Given the description of an element on the screen output the (x, y) to click on. 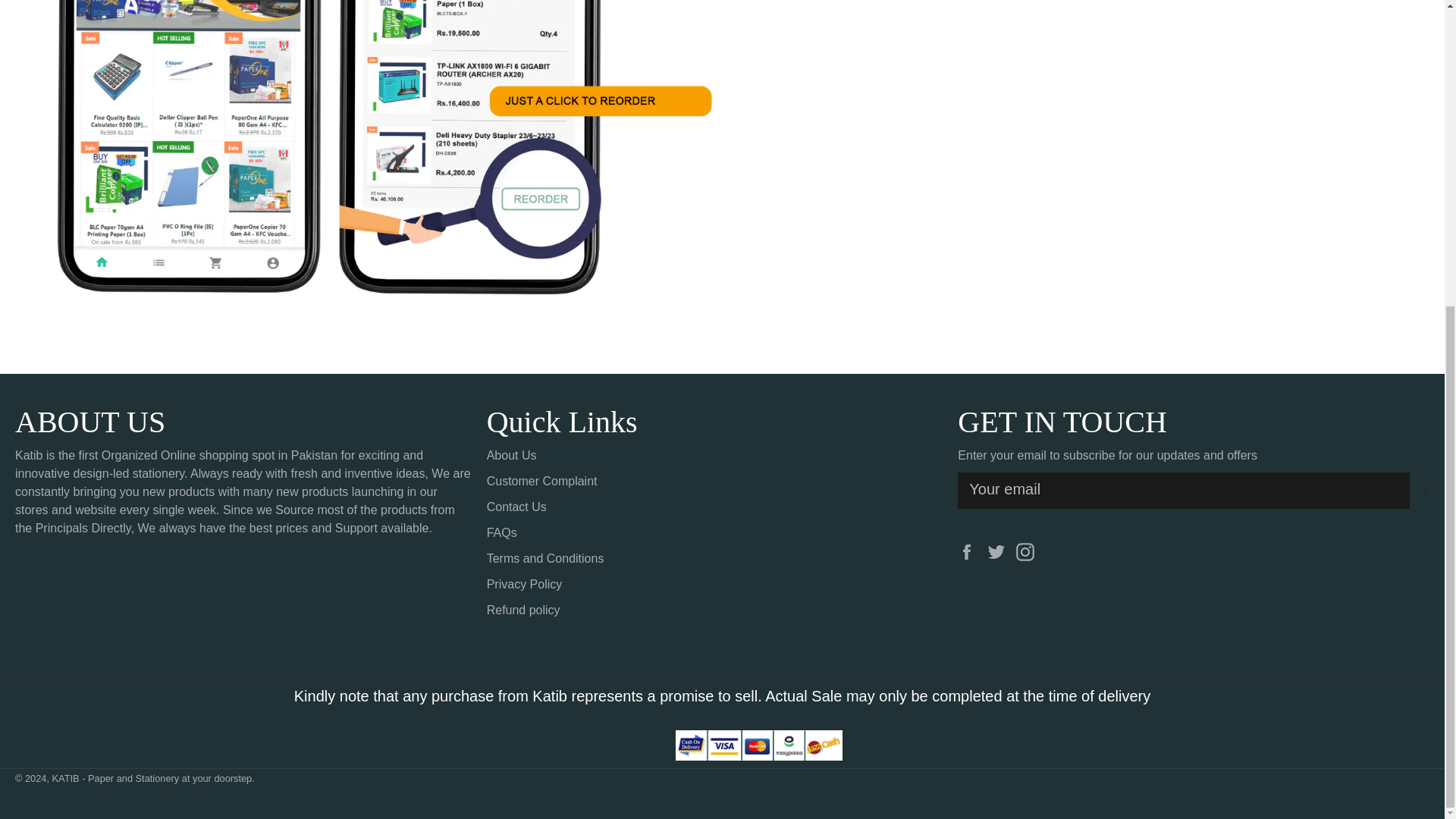
KATIB - Paper and Stationery at your doorstep on Instagram (1029, 551)
KATIB - Paper and Stationery at your doorstep on Twitter (1000, 551)
KATIB - Paper and Stationery at your doorstep on Facebook (971, 551)
